Given the description of an element on the screen output the (x, y) to click on. 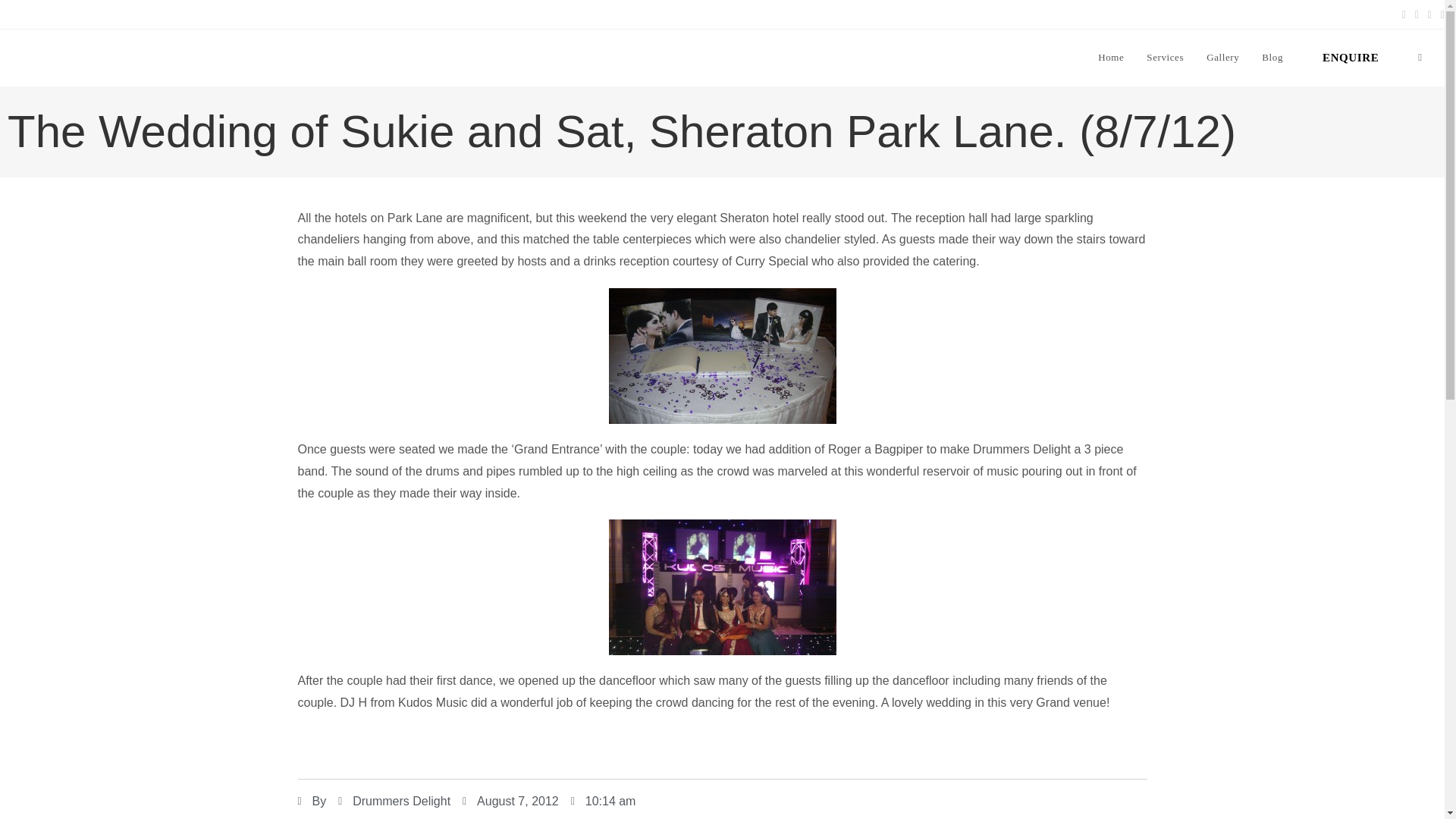
Drummers Delight (393, 802)
ENQUIRE (1350, 57)
Gallery (1222, 57)
Services (1165, 57)
DD - Sheraton Sukh and Sat Pic 2 (721, 356)
DD - Sukh and Sat Sheraton pic 1 (721, 587)
August 7, 2012 (511, 802)
